Given the description of an element on the screen output the (x, y) to click on. 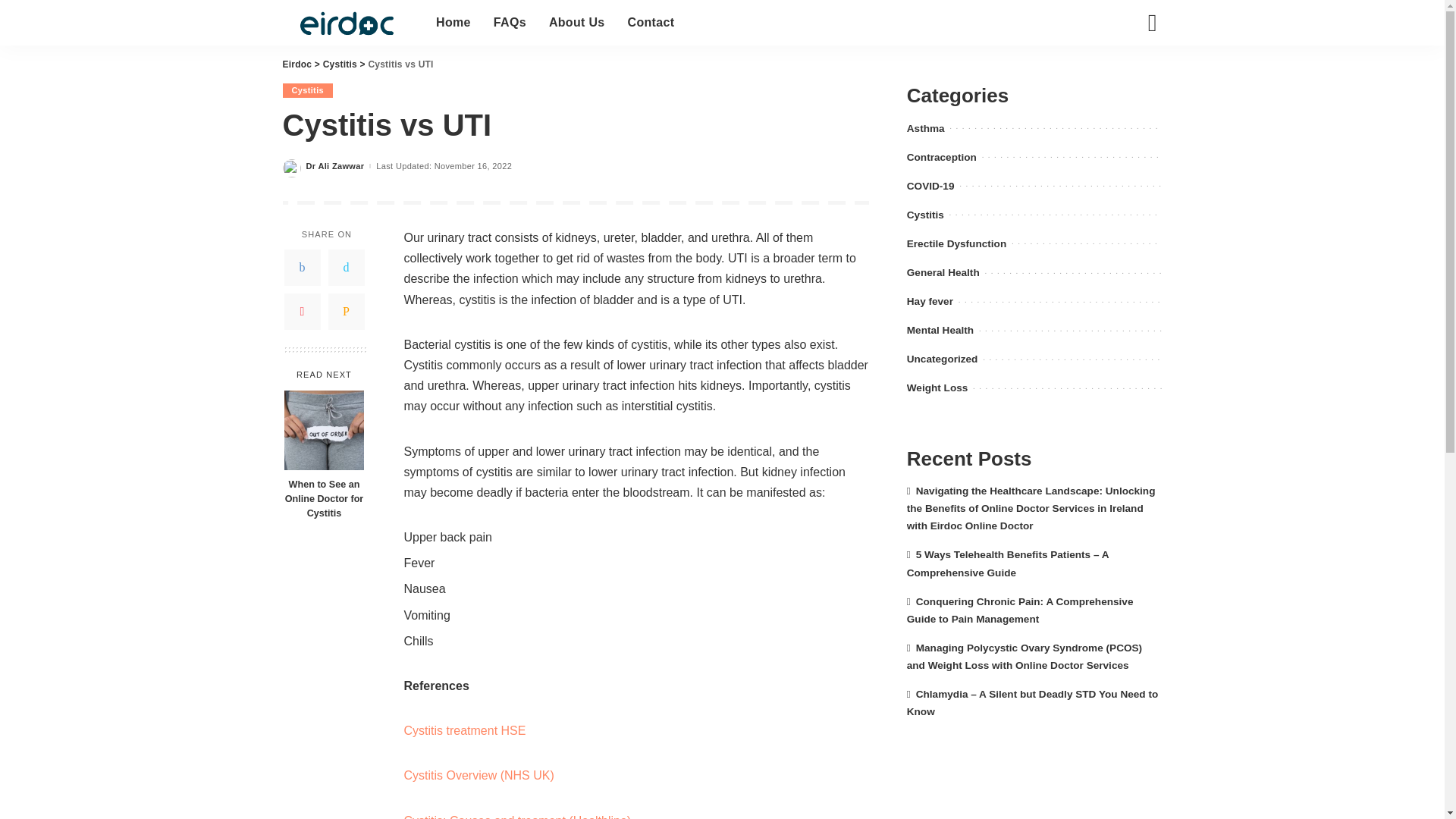
FAQs (509, 22)
About Us (576, 22)
Search (1140, 76)
Facebook (301, 267)
Twitter (345, 267)
Contact (650, 22)
Go to Eirdoc. (296, 63)
Go to the Cystitis Category archives. (339, 63)
Eirdoc (347, 22)
Home (453, 22)
